Given the description of an element on the screen output the (x, y) to click on. 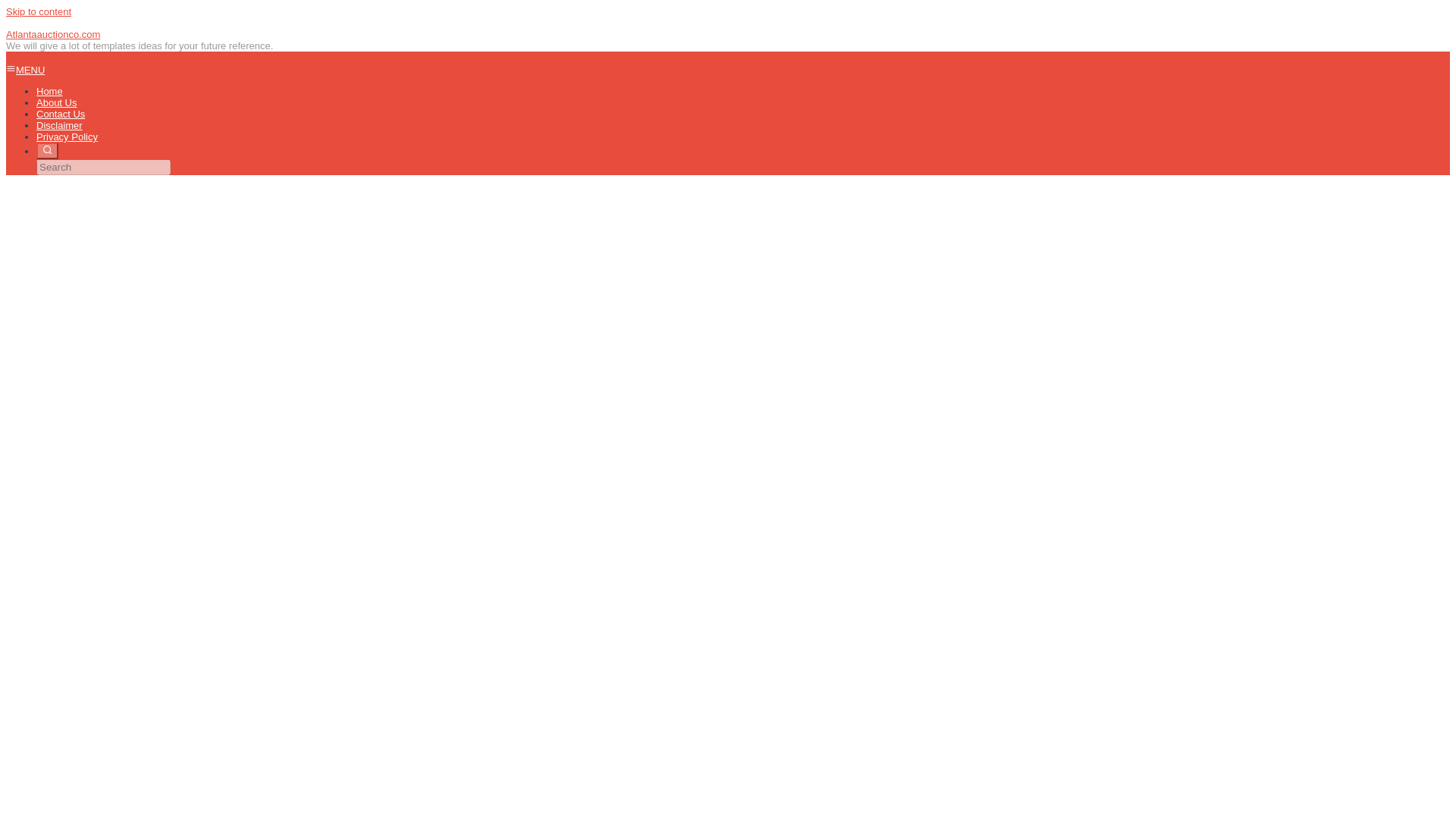
Atlantaauctionco.com (52, 34)
MENU (25, 70)
Skip to content (38, 11)
Privacy Policy (66, 136)
Search (47, 150)
Home (49, 91)
Atlantaauctionco.com (52, 34)
Disclaimer (59, 125)
About Us (56, 102)
Contact Us (60, 113)
